Given the description of an element on the screen output the (x, y) to click on. 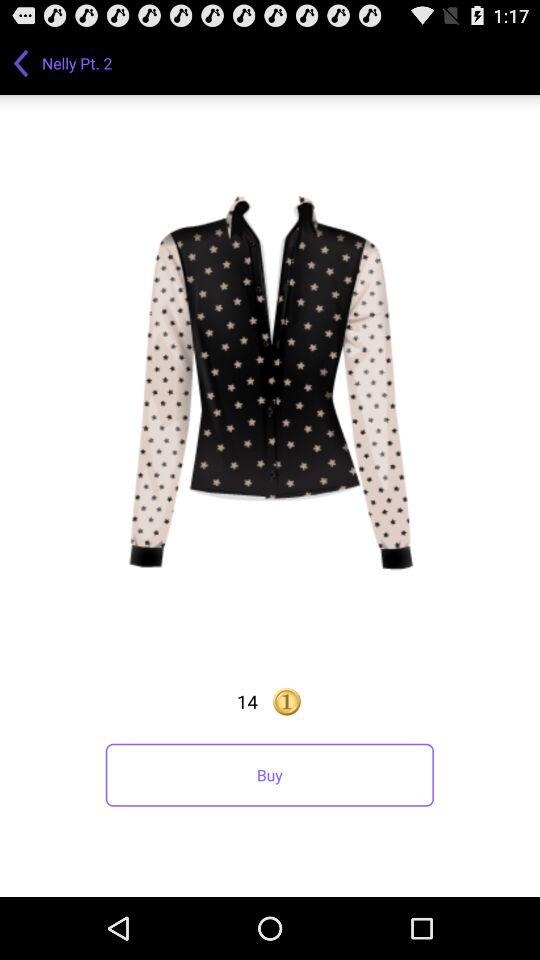
swipe until the buy item (269, 774)
